Given the description of an element on the screen output the (x, y) to click on. 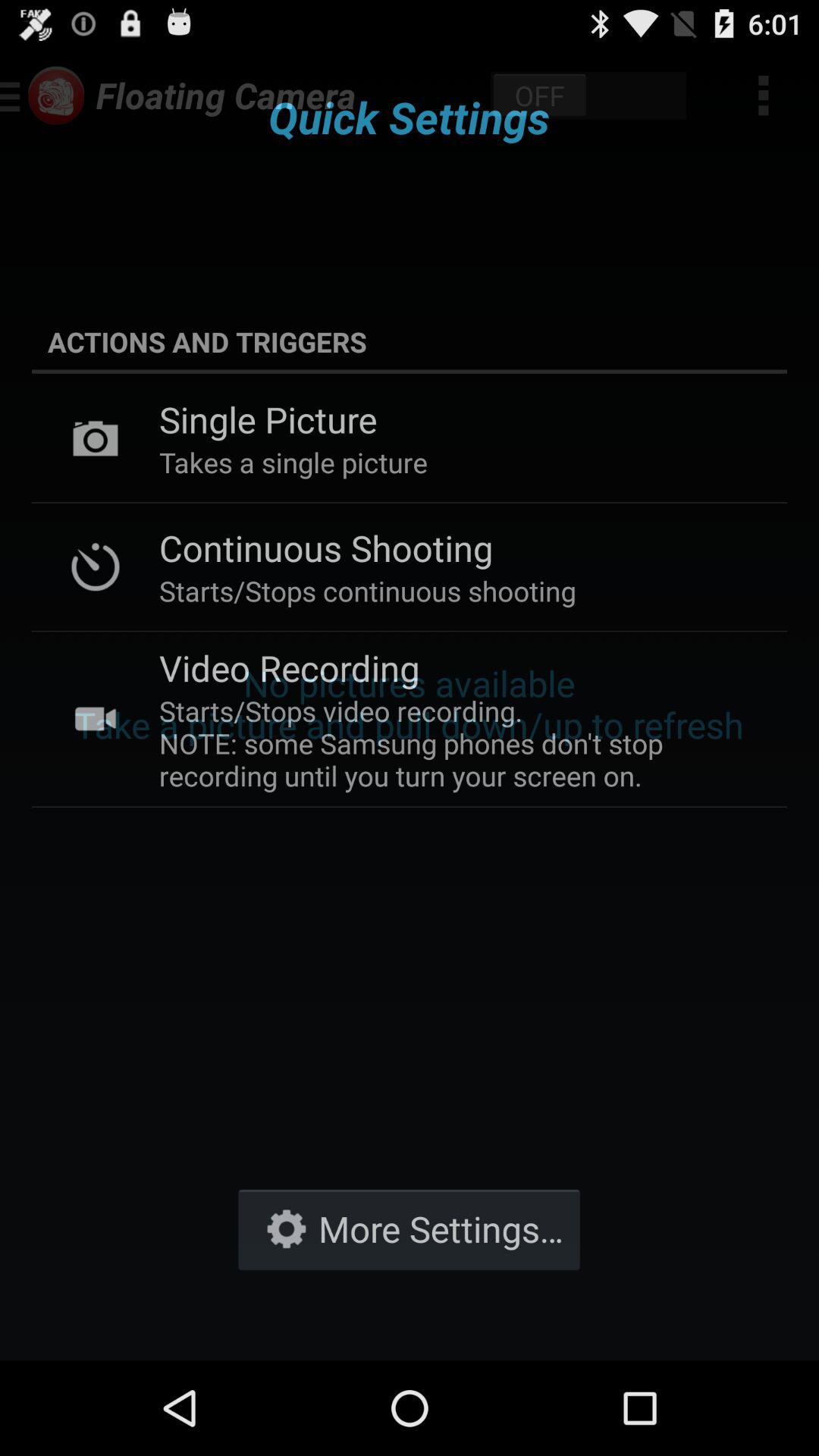
scroll until the takes a single (293, 462)
